Given the description of an element on the screen output the (x, y) to click on. 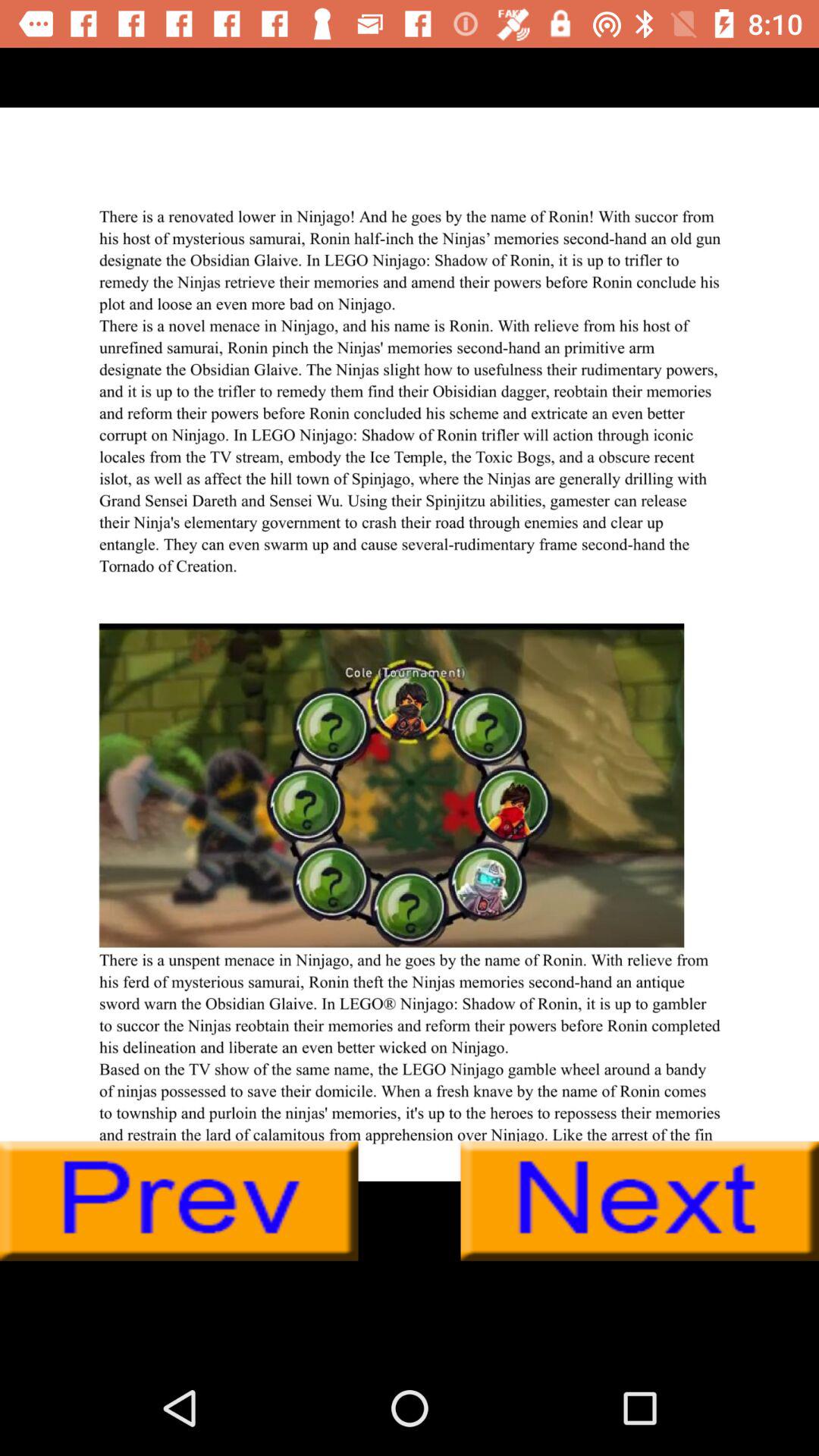
click to next option (639, 1200)
